Given the description of an element on the screen output the (x, y) to click on. 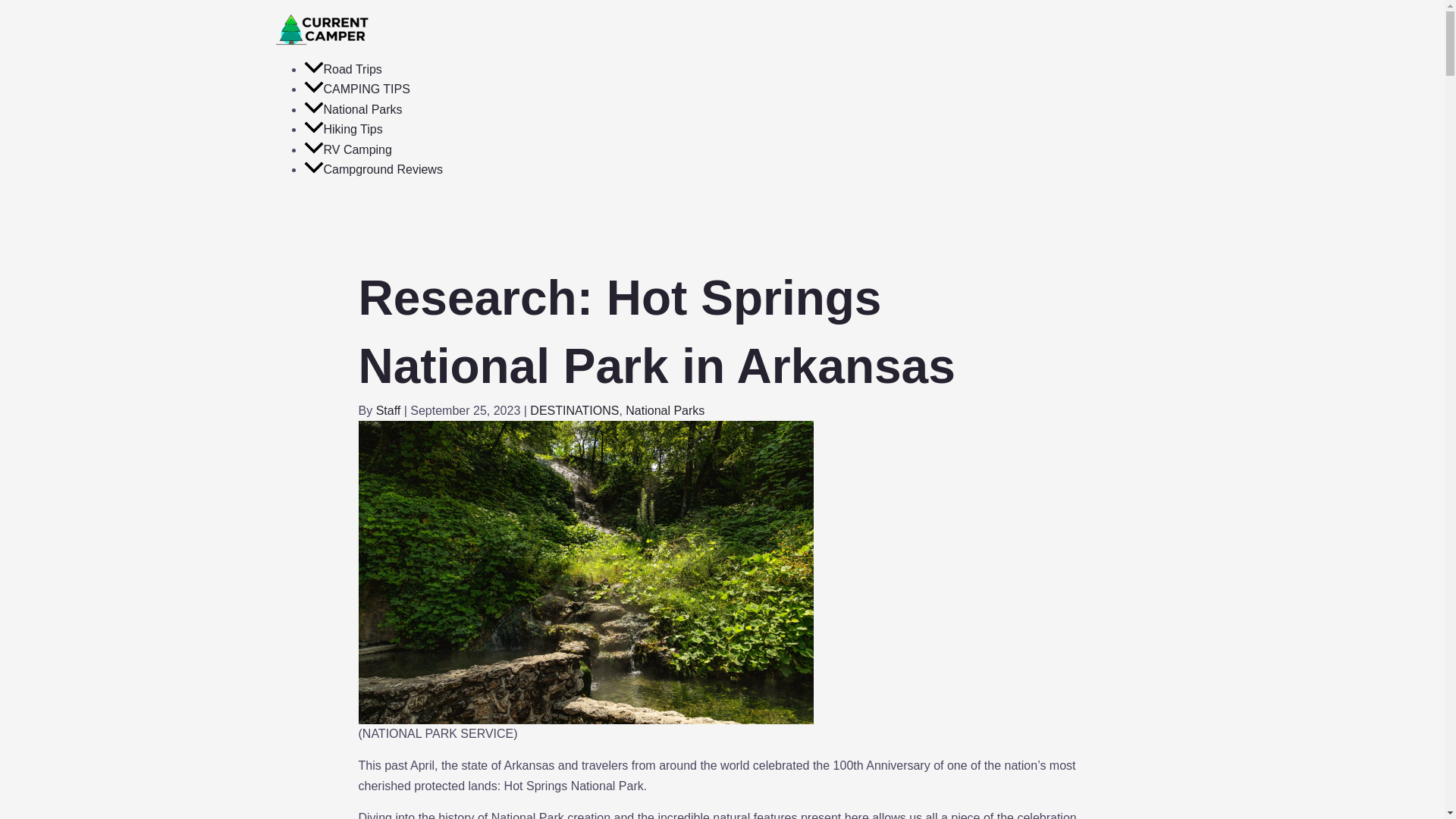
Search (721, 207)
Campground Reviews (372, 169)
Staff (389, 410)
National Parks (351, 109)
Hiking Tips (341, 128)
National Parks (665, 410)
View all posts by Staff (389, 410)
DESTINATIONS (573, 410)
RV Camping (346, 149)
Road Trips (341, 69)
CAMPING TIPS (355, 88)
